Given the description of an element on the screen output the (x, y) to click on. 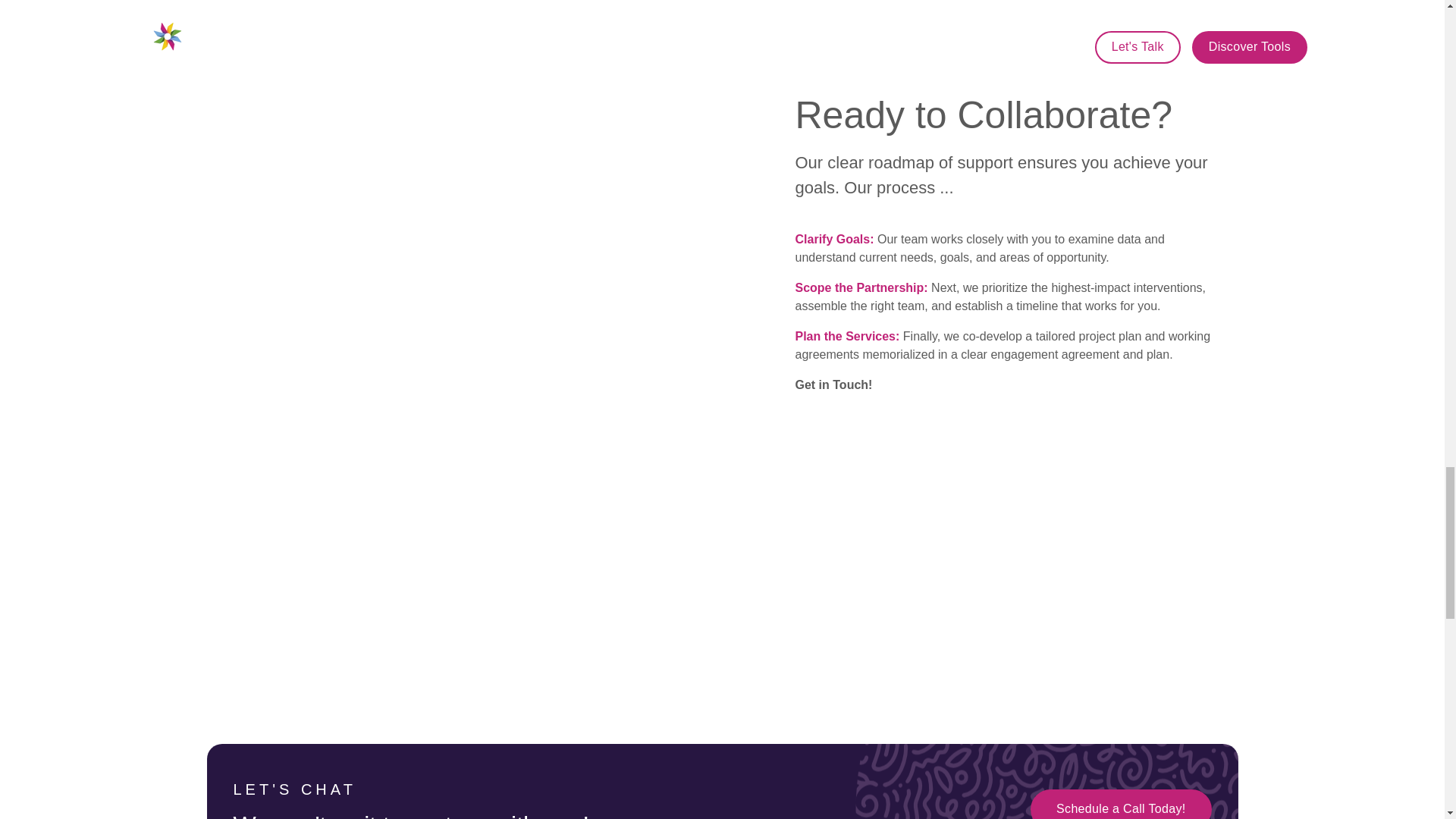
Schedule a Call Today! (1120, 804)
Form 0 (895, 507)
